Given the description of an element on the screen output the (x, y) to click on. 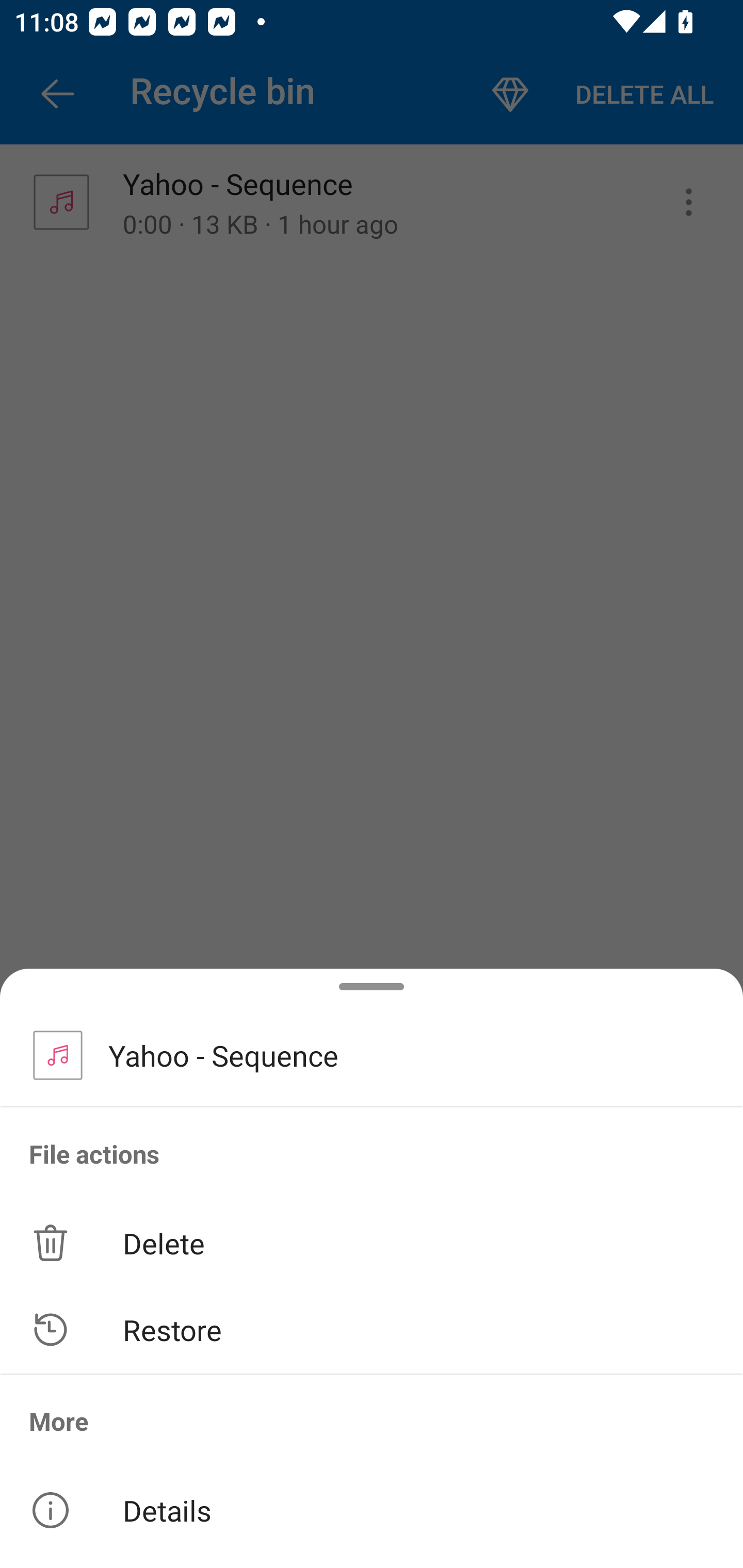
Delete button Delete (371, 1242)
Restore button Restore (371, 1329)
Details button Details (371, 1510)
